Given the description of an element on the screen output the (x, y) to click on. 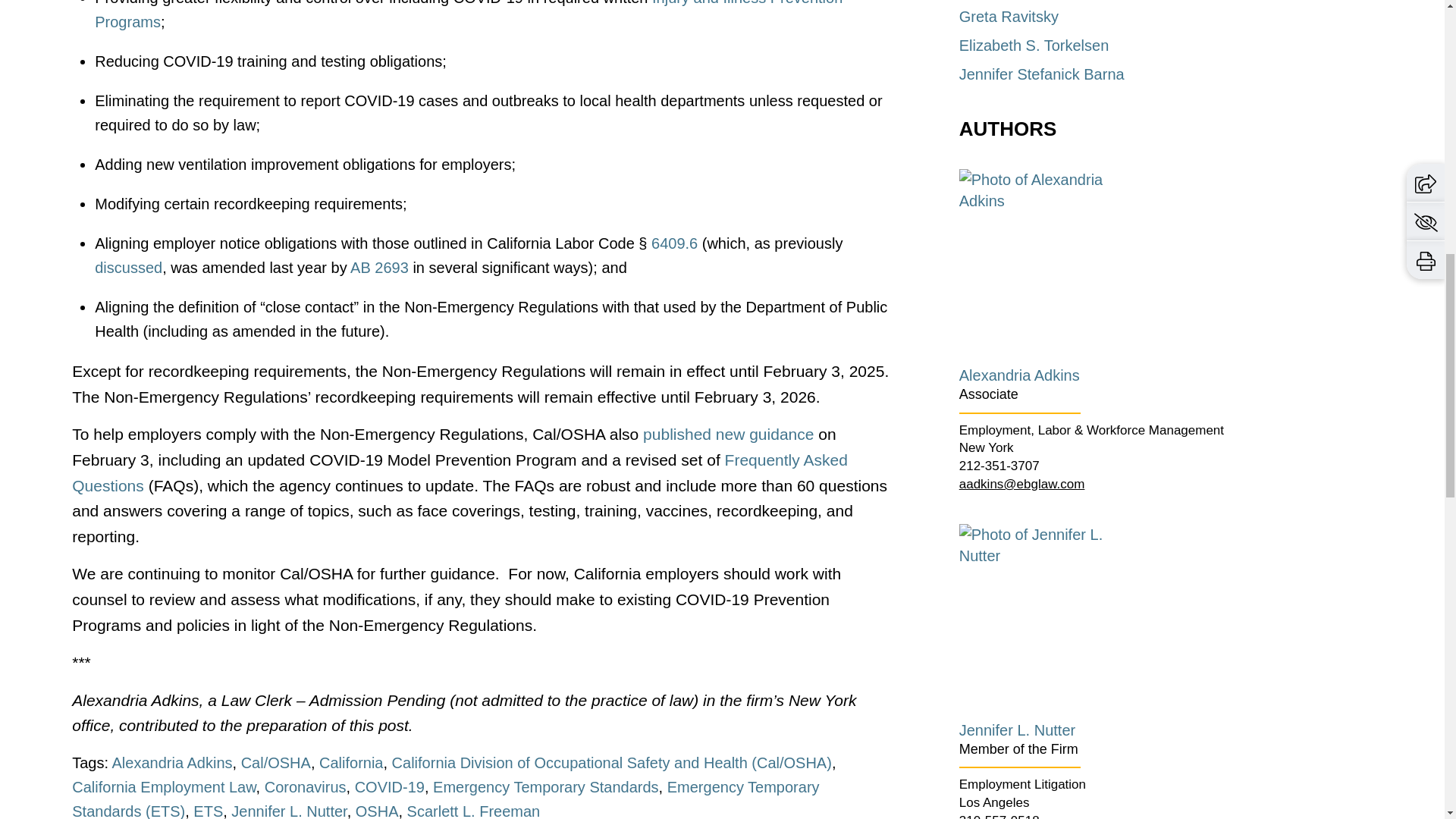
OSHA (376, 811)
published new guidance (728, 434)
Frequently Asked Questions (459, 472)
6409.6 (673, 243)
AB 2693 (379, 267)
ETS (207, 811)
Injury and Illness Prevention Programs (468, 15)
California (350, 762)
Alexandria Adkins (172, 762)
discussed (127, 267)
California Employment Law (163, 786)
Coronavirus (305, 786)
Emergency Temporary Standards (545, 786)
COVID-19 (390, 786)
Jennifer L. Nutter (288, 811)
